Given the description of an element on the screen output the (x, y) to click on. 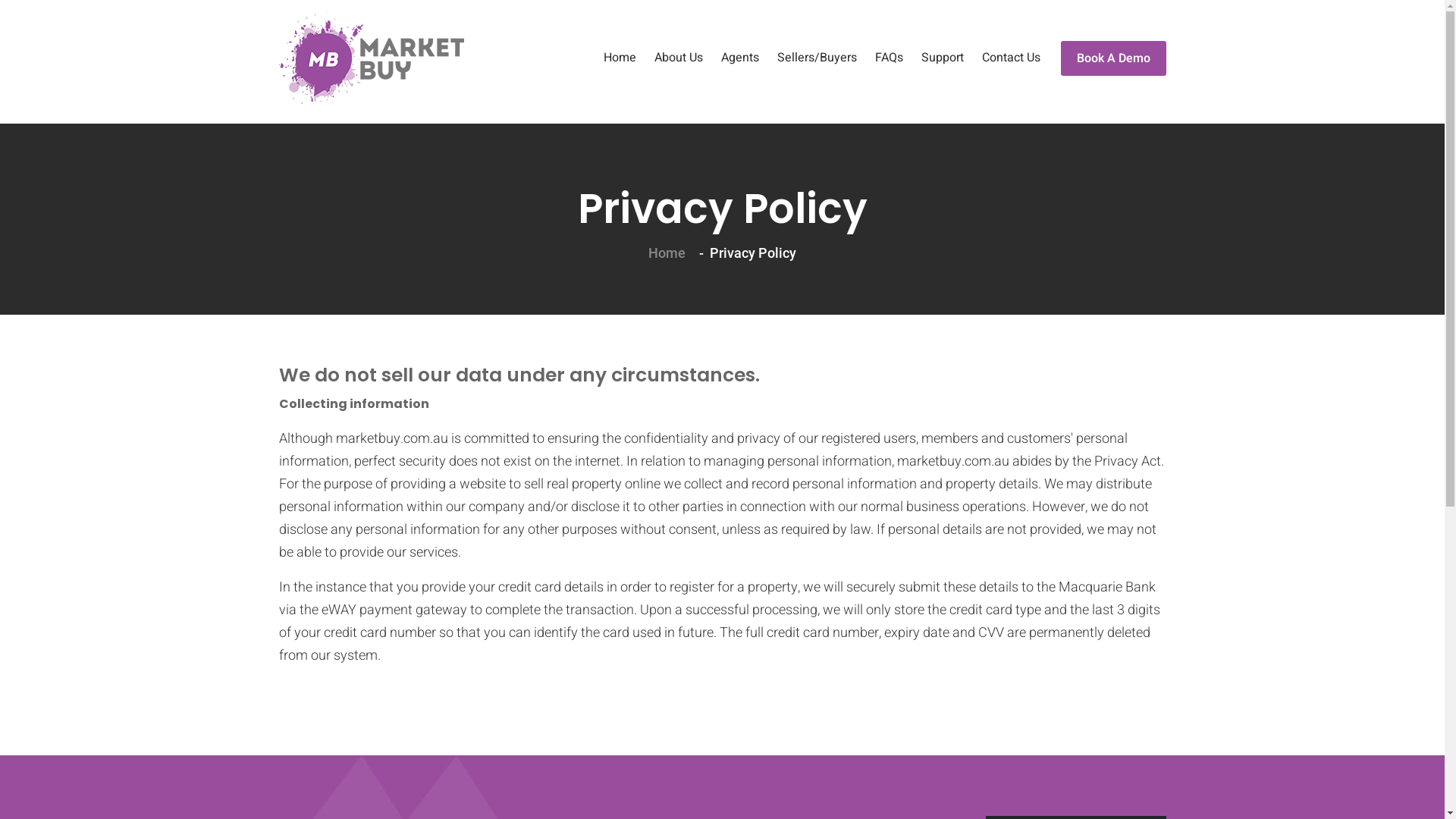
Urban Nest Realty on the Market Buy platform Element type: hover (371, 57)
Book A Demo Element type: text (1112, 57)
About Us Element type: text (677, 58)
FAQs Element type: text (889, 58)
Support Element type: text (941, 58)
Contact Us Element type: text (1010, 58)
Sellers/Buyers Element type: text (816, 58)
Home Element type: text (666, 252)
Agents Element type: text (739, 58)
Home Element type: text (619, 58)
